Given the description of an element on the screen output the (x, y) to click on. 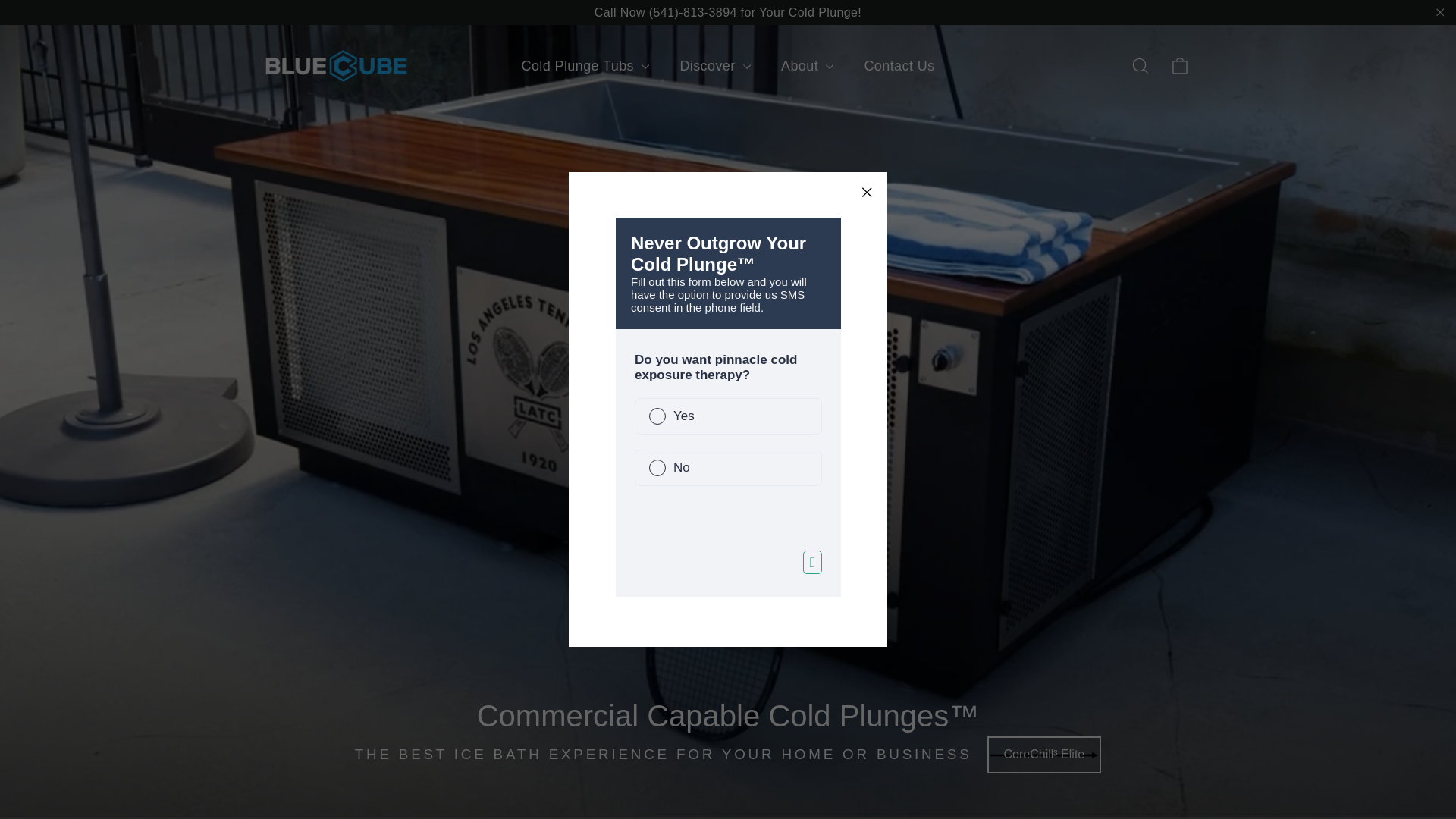
Cold Plunge Tubs (584, 66)
